Given the description of an element on the screen output the (x, y) to click on. 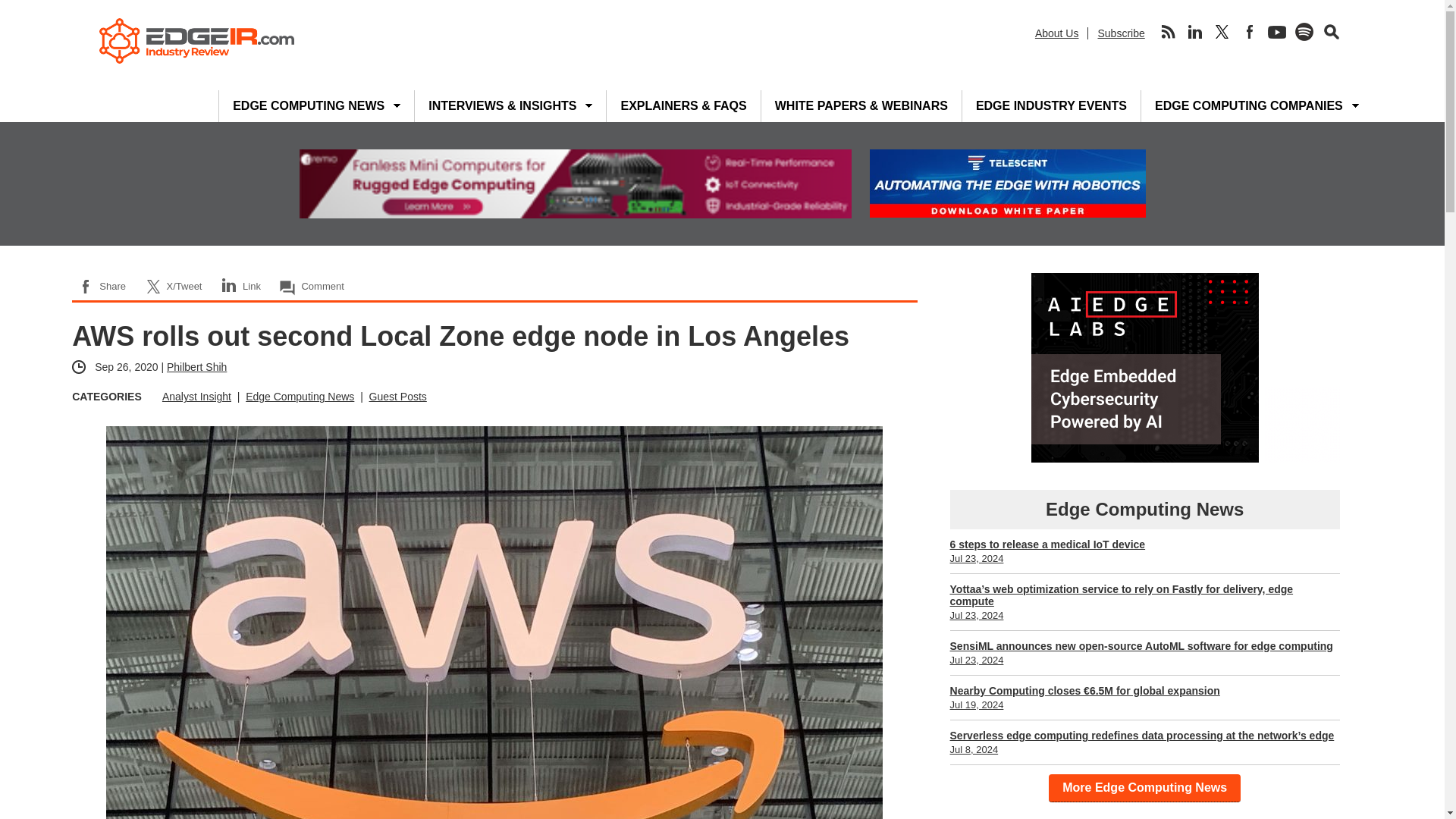
twitter (1222, 31)
youtube (1276, 31)
Edge Computing Events (1051, 106)
Edge Computing News (308, 106)
3rd party ad content (574, 183)
rss (1167, 31)
Posts by Philbert Shih (197, 367)
facebook (1249, 31)
About Us (1056, 33)
Edge Computing Companies (1248, 106)
spotify (1303, 31)
3rd party ad content (1144, 367)
linkedin (1194, 31)
search (1331, 31)
Edge Computing Thought Leadership (501, 106)
